Given the description of an element on the screen output the (x, y) to click on. 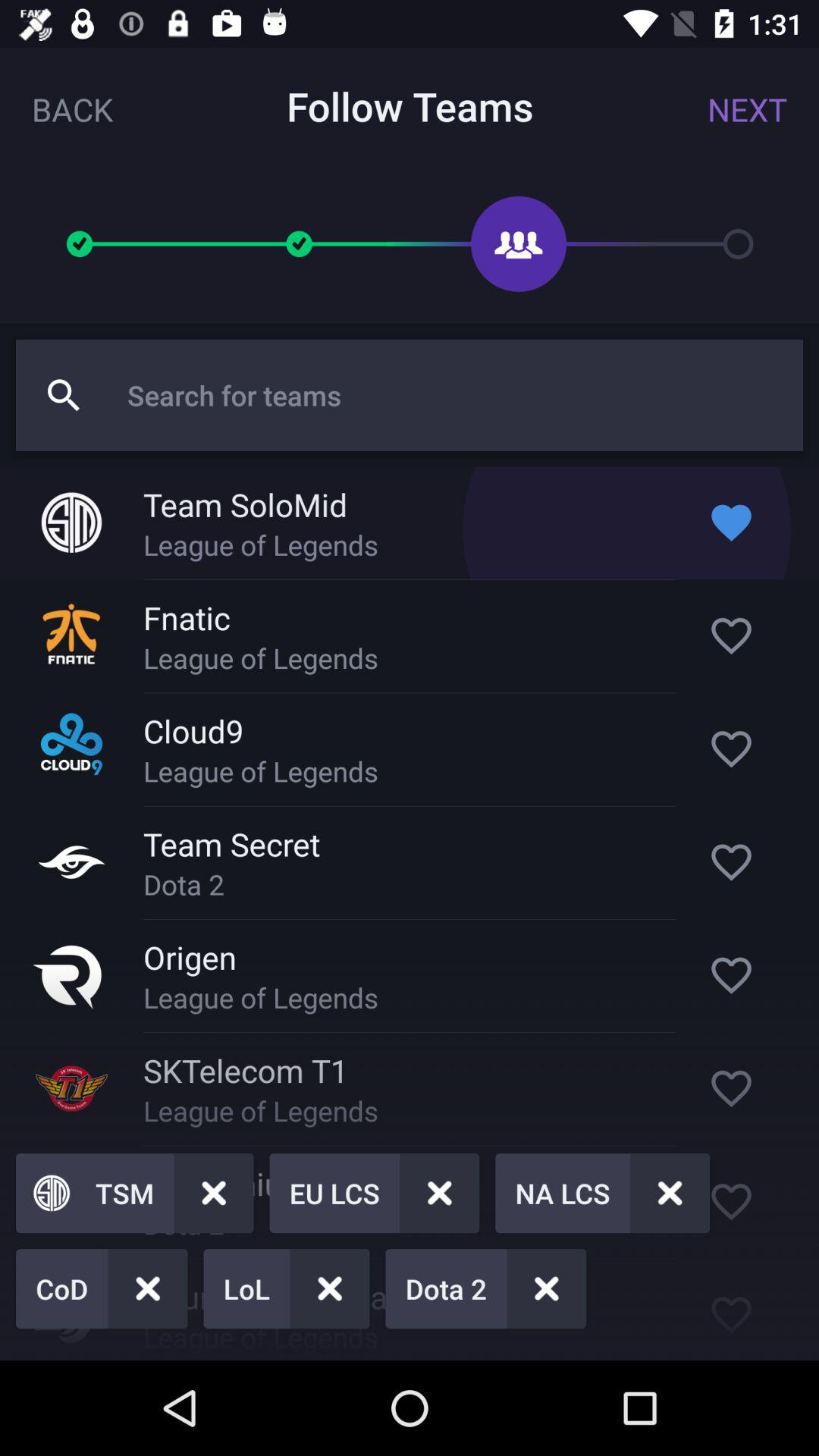
flip to the next (747, 108)
